Given the description of an element on the screen output the (x, y) to click on. 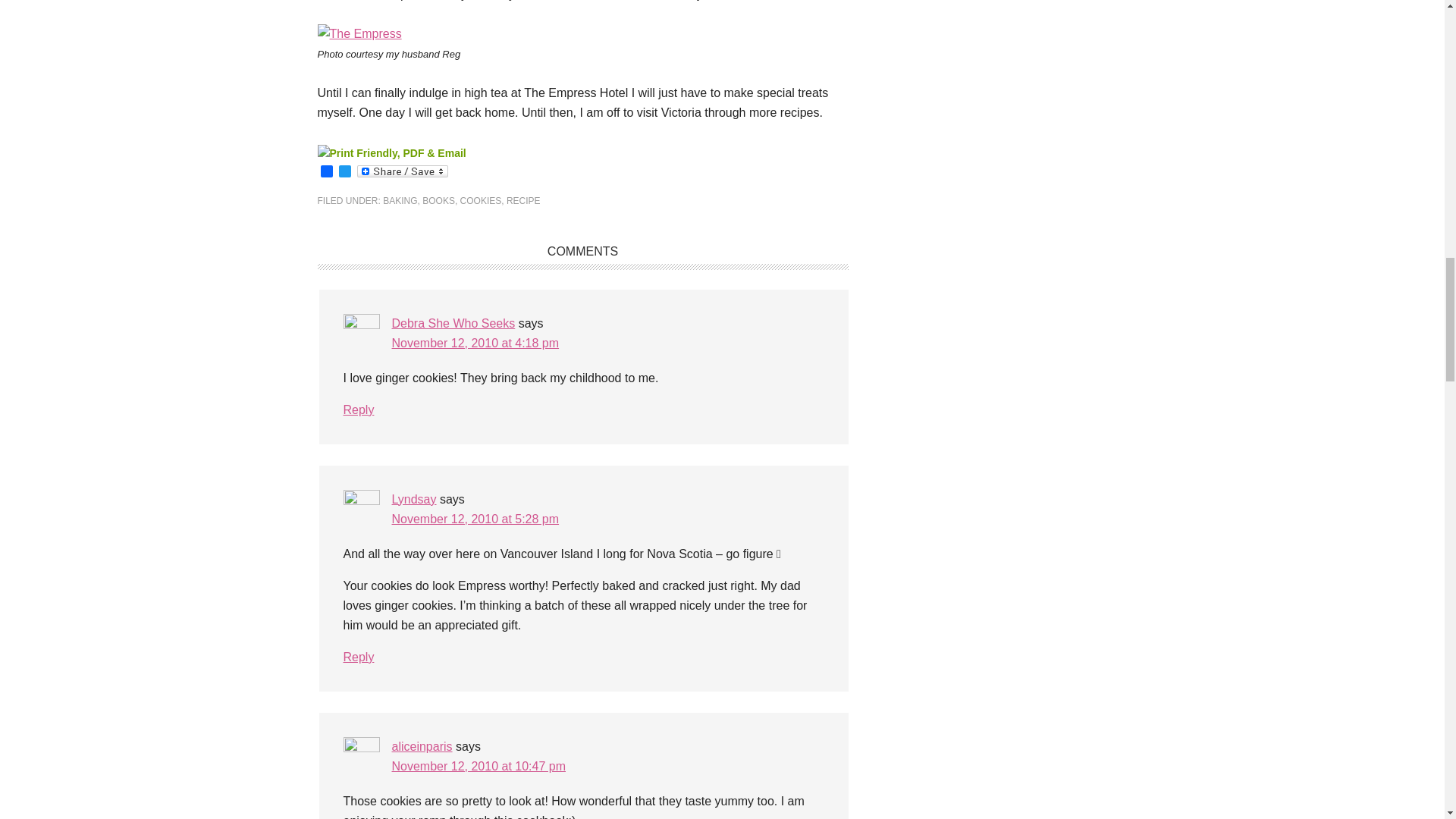
Facebook (325, 172)
BOOKS (438, 200)
BAKING (399, 200)
Twitter (343, 172)
